Given the description of an element on the screen output the (x, y) to click on. 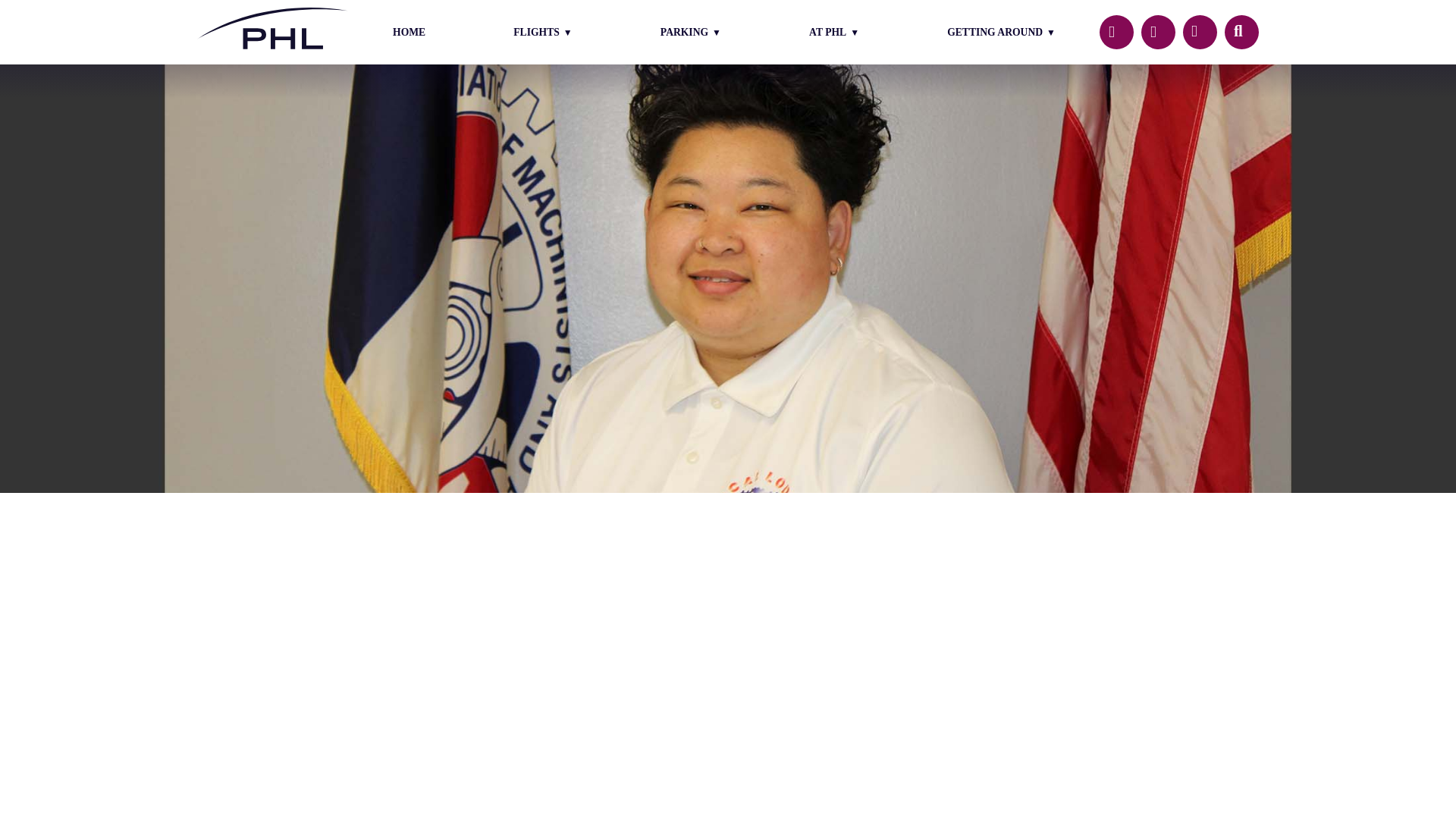
PHL Airport Logo (272, 32)
Flights (1116, 32)
FLIGHTS (541, 31)
HOME (408, 31)
PARKING (690, 31)
Search (1241, 32)
AT PHL (833, 31)
Map (1199, 32)
